Given the description of an element on the screen output the (x, y) to click on. 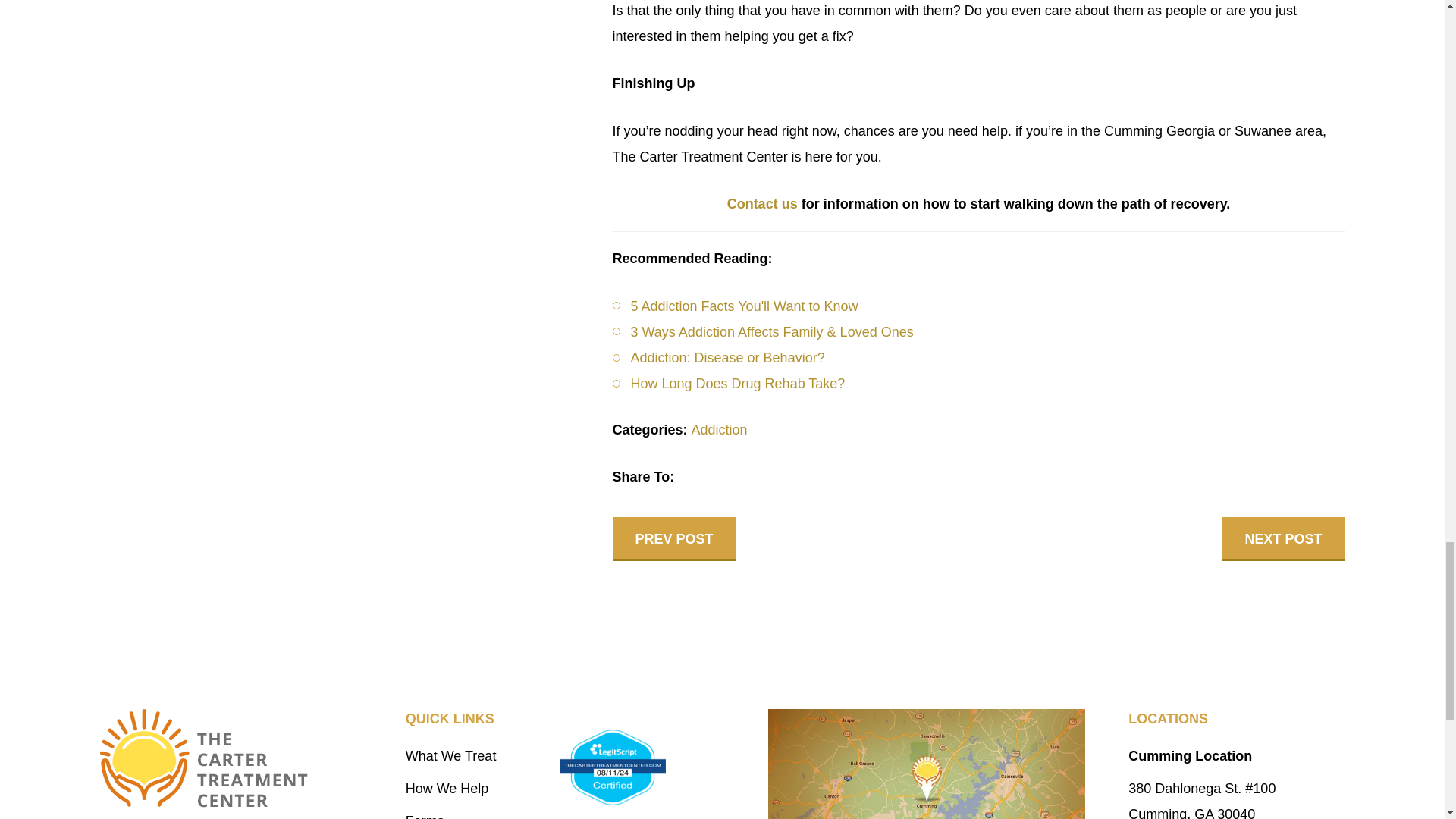
Verify LegitScript Approval (612, 767)
The Carter Treatment Center (203, 758)
Home (235, 758)
